Given the description of an element on the screen output the (x, y) to click on. 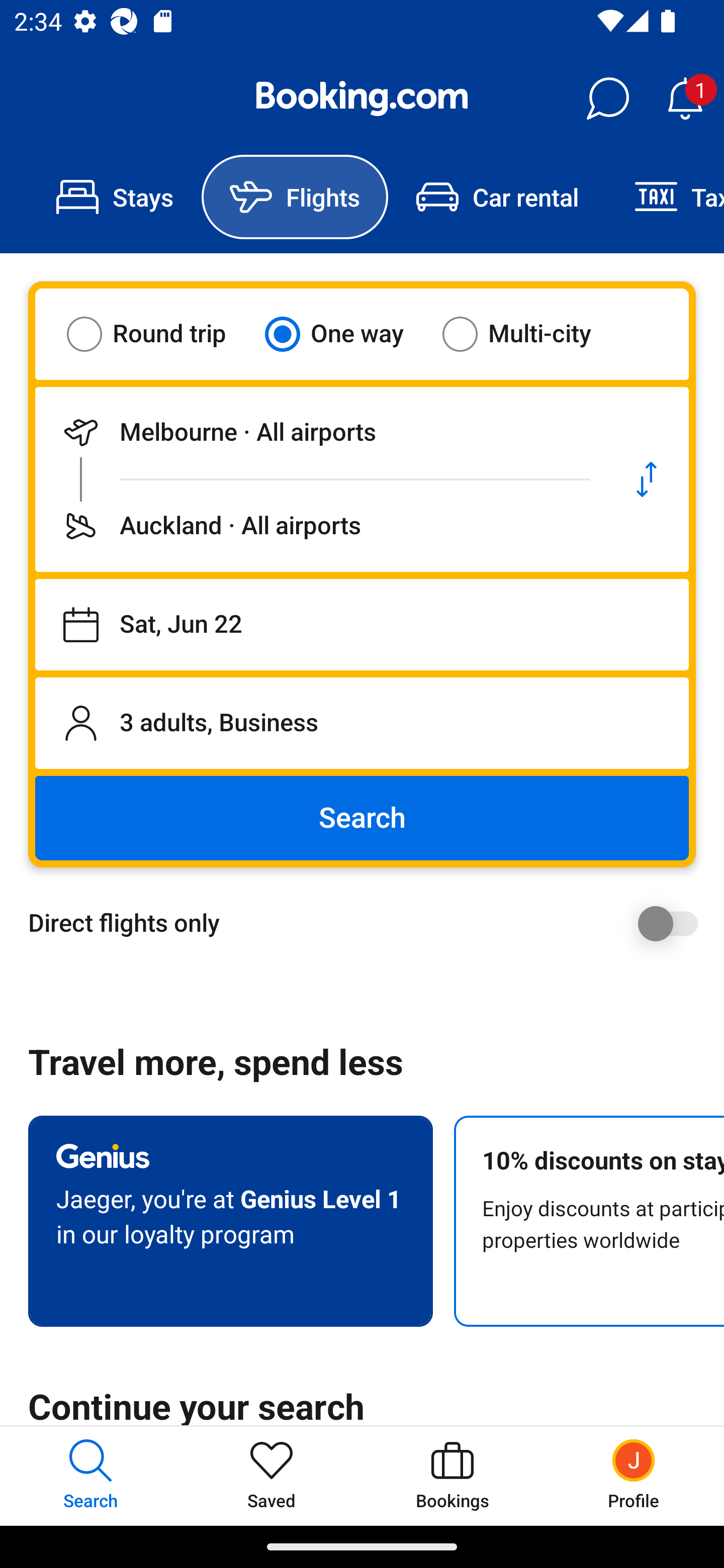
Messages (607, 98)
Notifications (685, 98)
Stays (114, 197)
Flights (294, 197)
Car rental (497, 197)
Taxi (665, 197)
Round trip (158, 333)
Multi-city (528, 333)
Departing from Melbourne · All airports (319, 432)
Swap departure location and destination (646, 479)
Flying to Auckland · All airports (319, 525)
Departing on Sat, Jun 22 (361, 624)
3 adults, Business (361, 722)
Search (361, 818)
Direct flights only (369, 923)
Saved (271, 1475)
Bookings (452, 1475)
Profile (633, 1475)
